Given the description of an element on the screen output the (x, y) to click on. 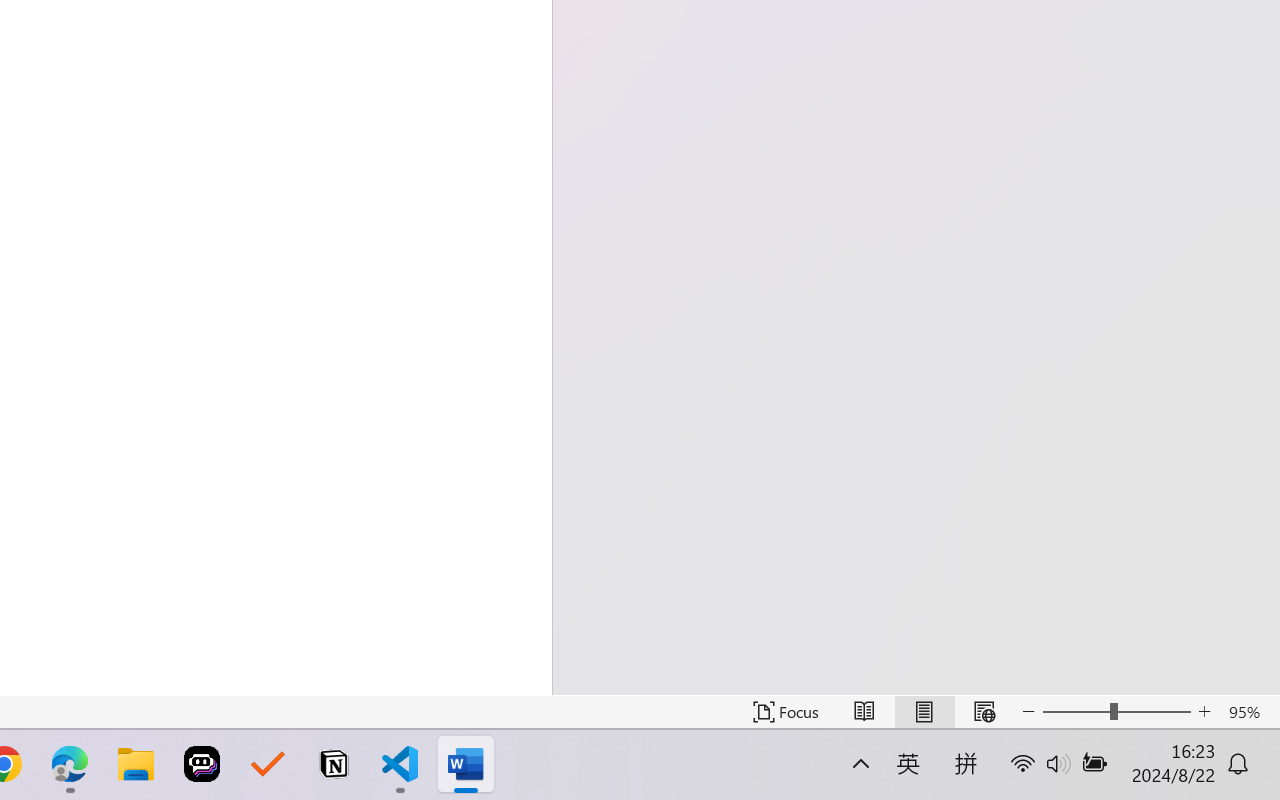
Zoom 95% (1249, 712)
Poe (201, 764)
